Given the description of an element on the screen output the (x, y) to click on. 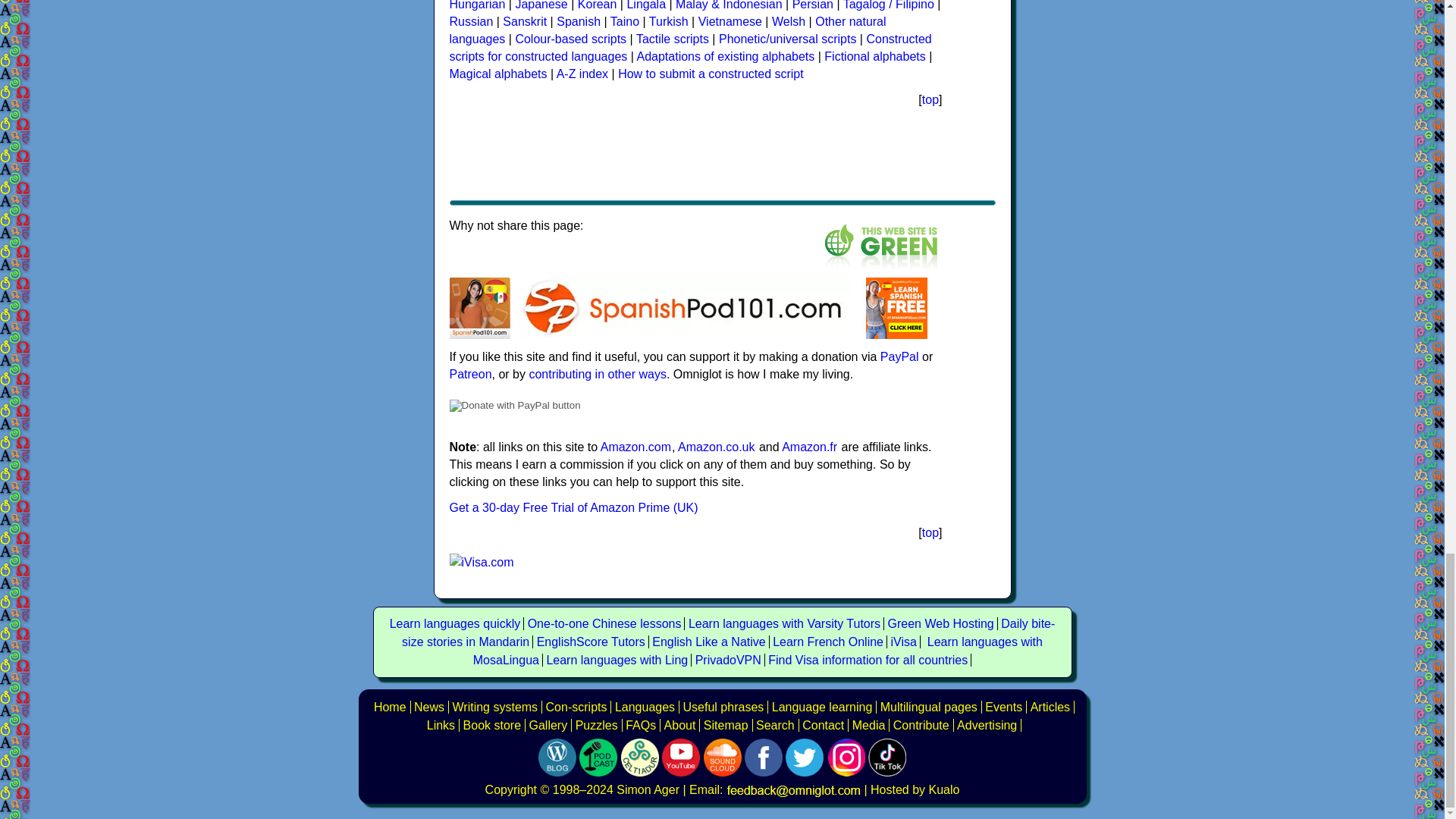
Language names in their own scripts and languages (928, 707)
A selection of phrases in numerous languages (723, 707)
Advice on learning languages (821, 707)
An index of the languages featured on Omniglot (644, 707)
Japanese (541, 5)
